Given the description of an element on the screen output the (x, y) to click on. 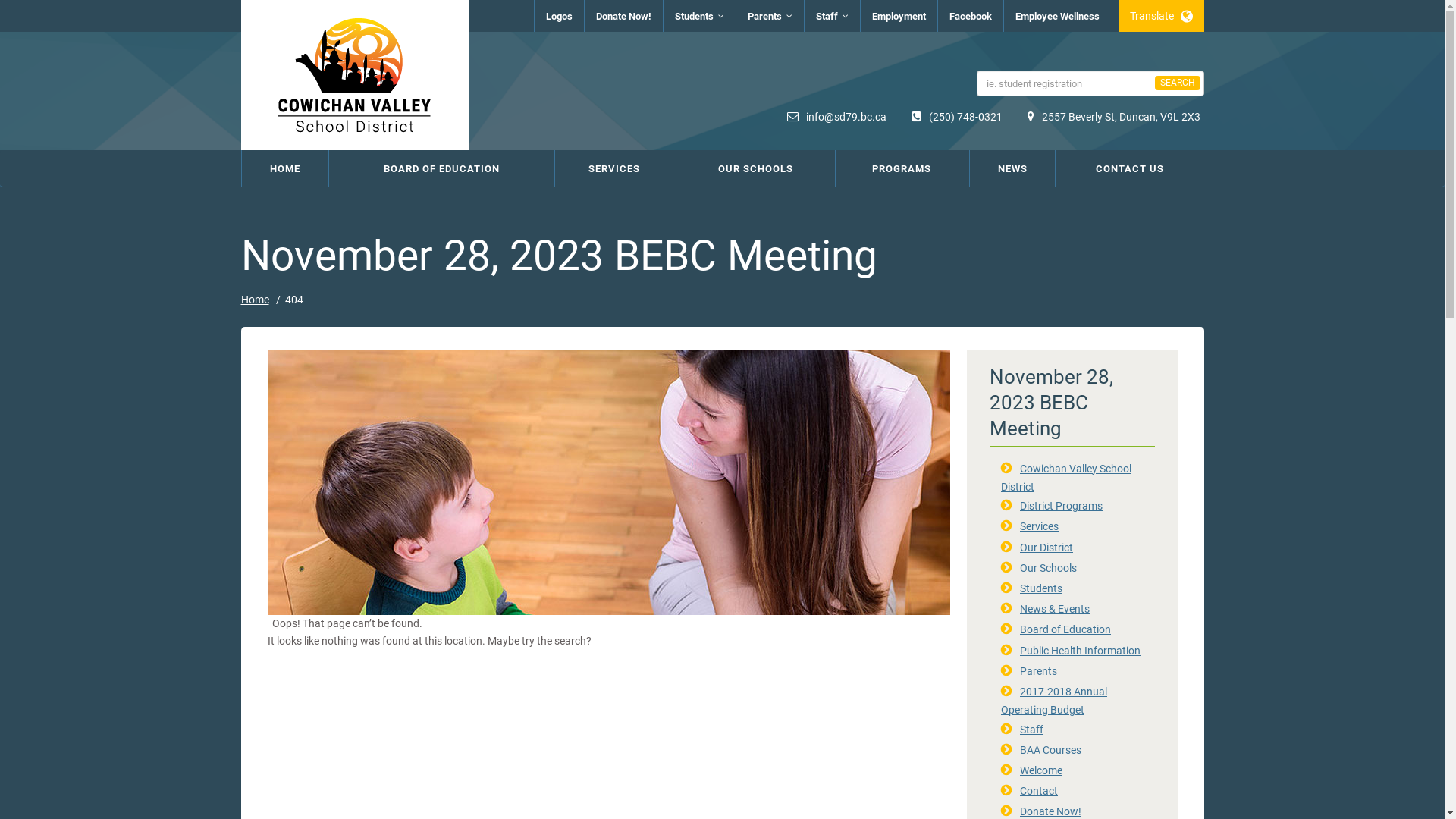
Parents Element type: text (1038, 671)
Parents Element type: text (769, 15)
Employment Element type: text (897, 15)
News & Events Element type: text (1054, 608)
Donate Now! Element type: text (1050, 811)
Our District Element type: text (1046, 547)
SERVICES Element type: text (614, 168)
District Programs Element type: text (1060, 505)
Staff Element type: text (831, 15)
OUR SCHOOLS Element type: text (755, 168)
Home Element type: text (255, 299)
Contact Element type: text (1038, 790)
Our Schools Element type: text (1047, 567)
BAA Courses Element type: text (1050, 749)
NEWS Element type: text (1011, 168)
SEARCH Element type: text (1176, 82)
Facebook Element type: text (969, 15)
BOARD OF EDUCATION Element type: text (441, 168)
Cowichan Valley School District Element type: text (1066, 477)
Board of Education Element type: text (1064, 629)
Logos Element type: text (558, 15)
Services Element type: text (1038, 526)
2017-2018 Annual Operating Budget Element type: text (1054, 700)
Donate Now! Element type: text (622, 15)
HOME Element type: text (284, 168)
Students Element type: text (698, 15)
Staff Element type: text (1031, 729)
PROGRAMS Element type: text (901, 168)
Welcome Element type: text (1040, 770)
Translate   Element type: text (1160, 15)
CONTACT US Element type: text (1129, 168)
Employee Wellness Element type: text (1057, 15)
Public Health Information Element type: text (1079, 650)
Students Element type: text (1040, 588)
